Given the description of an element on the screen output the (x, y) to click on. 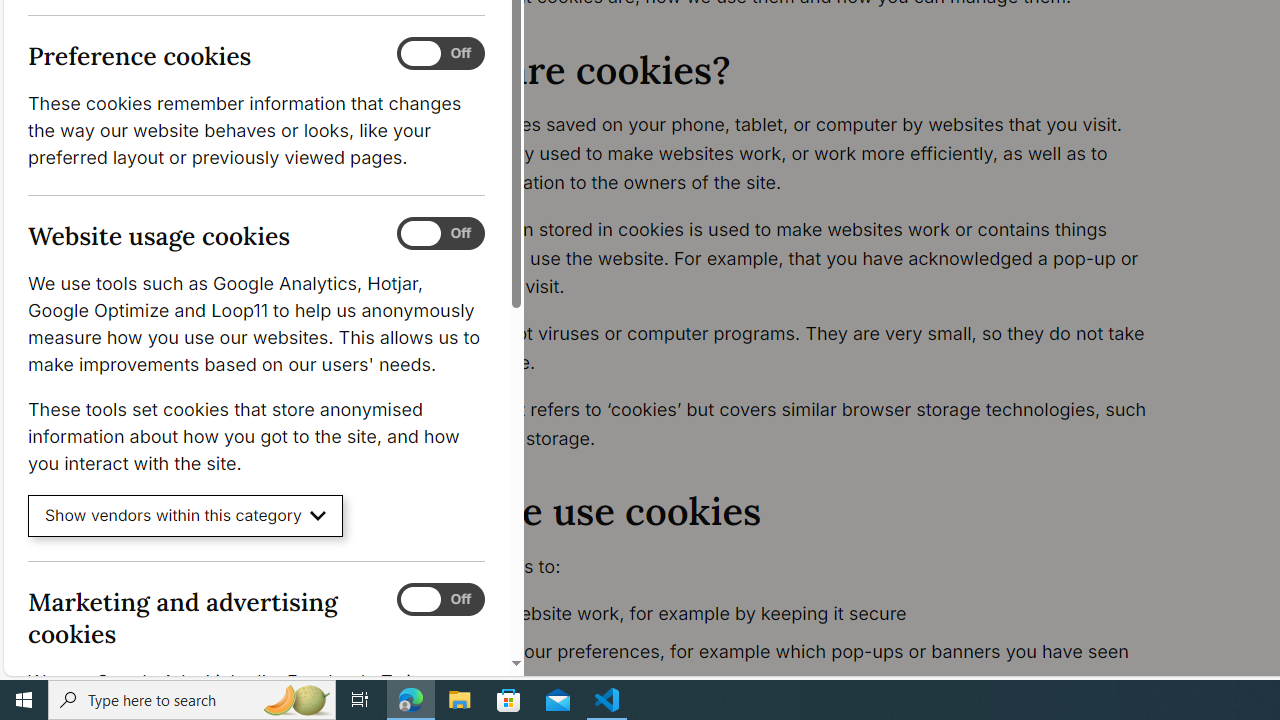
Preference cookies (440, 53)
Marketing and advertising cookies (440, 599)
Show vendors within this category (185, 516)
Website usage cookies (440, 233)
make our website work, for example by keeping it secure (796, 614)
